Given the description of an element on the screen output the (x, y) to click on. 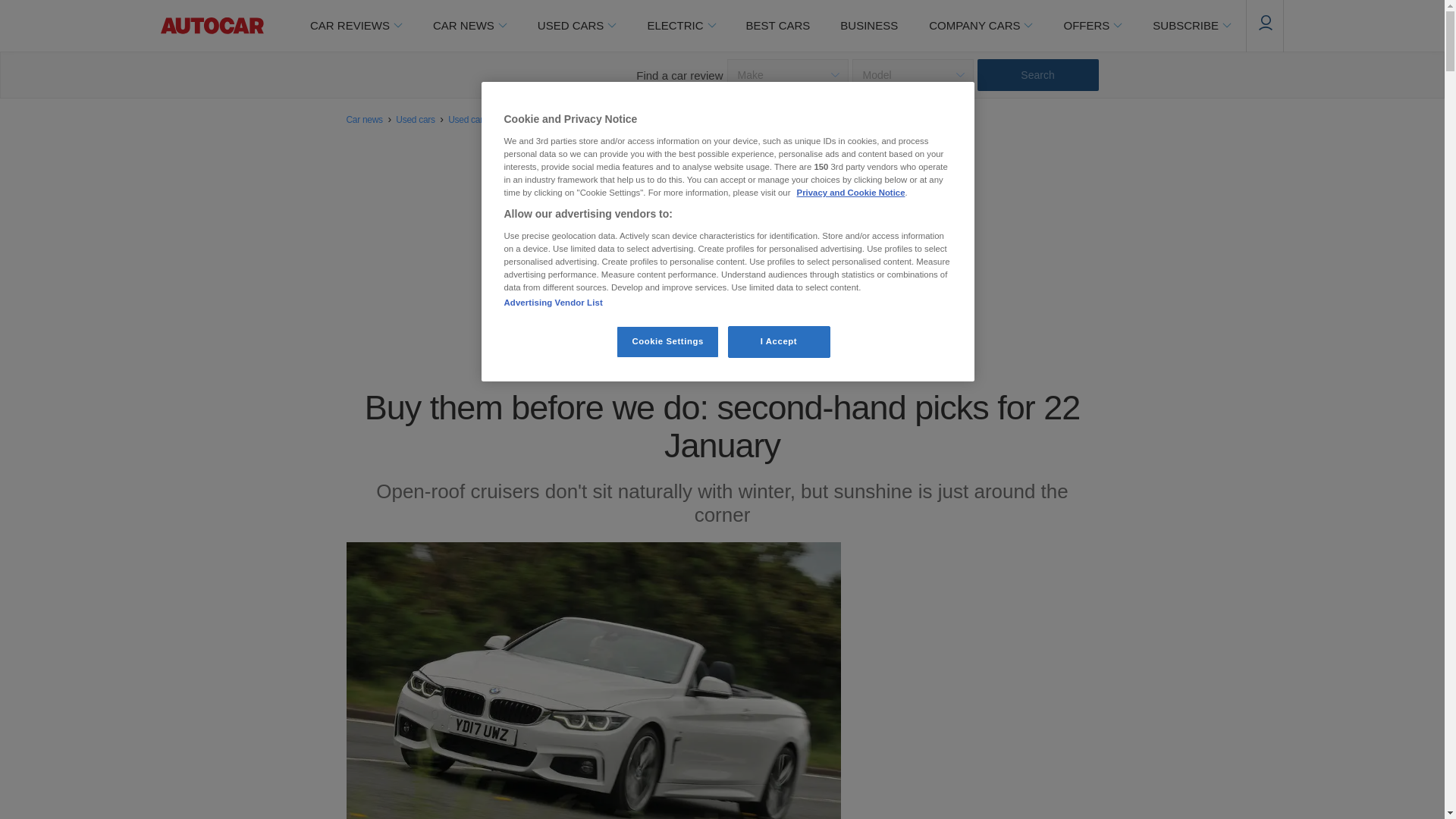
BUSINESS (868, 26)
SUBSCRIBE (1191, 26)
Autocar Business news, insight and opinion (868, 26)
Top 10 cars by segment (777, 26)
Autocar Electric (680, 26)
BEST CARS (777, 26)
ELECTRIC (680, 26)
Home (211, 25)
Search (1036, 74)
CAR NEWS (468, 26)
Search (1036, 74)
COMPANY CARS (979, 26)
CAR REVIEWS (355, 26)
OFFERS (1091, 26)
USED CARS (576, 26)
